Given the description of an element on the screen output the (x, y) to click on. 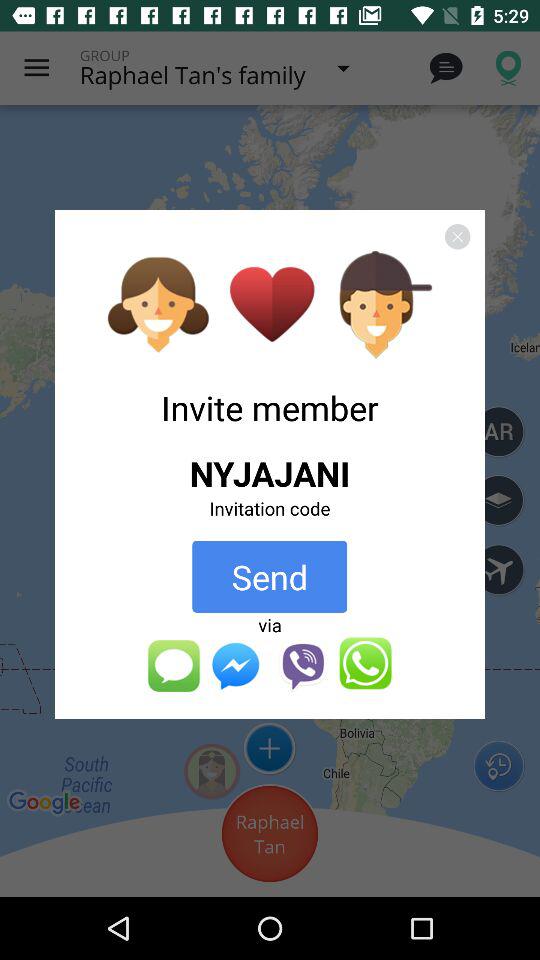
jump until the send item (269, 576)
